Given the description of an element on the screen output the (x, y) to click on. 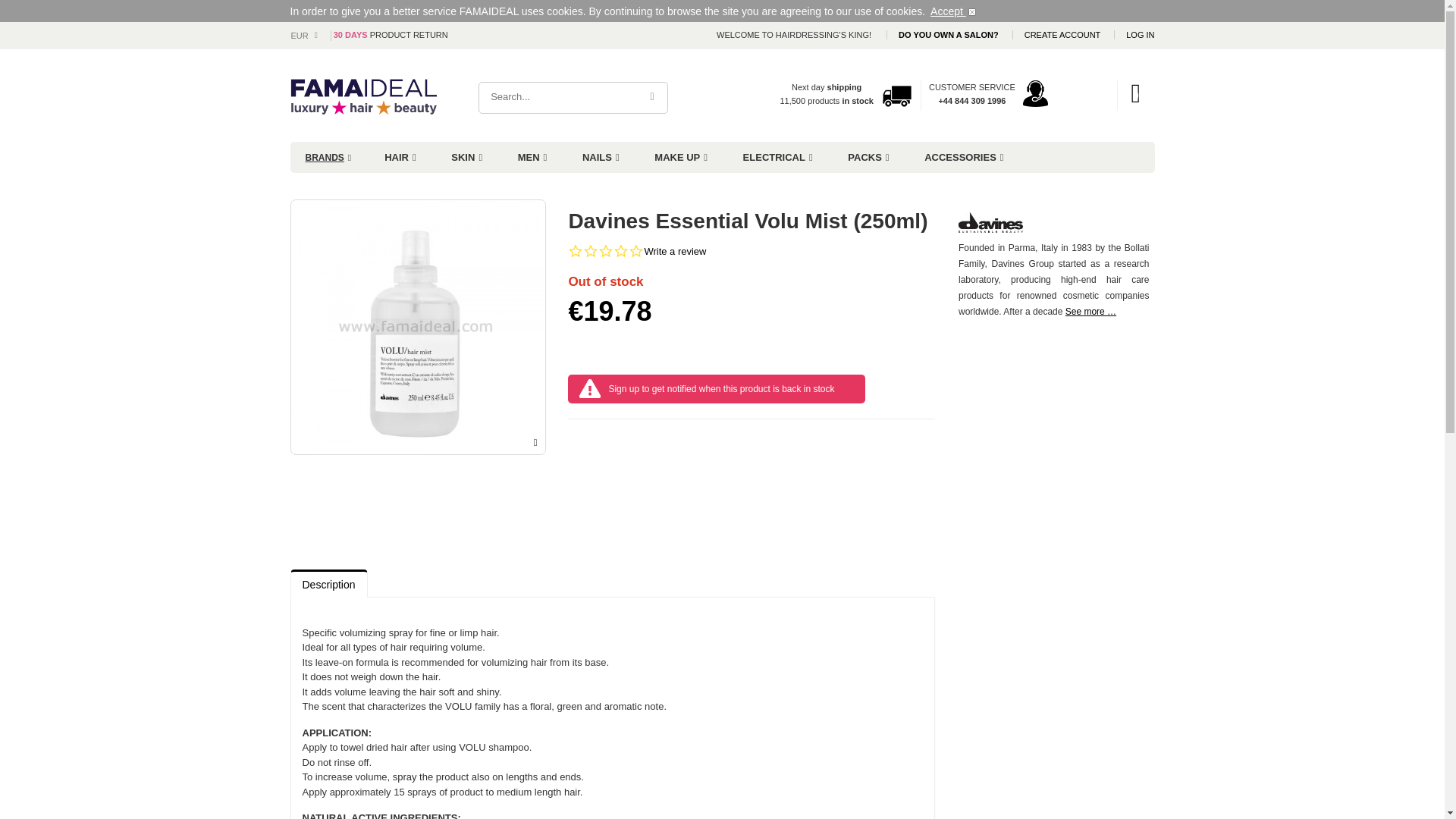
Sign up to get notified when this product is back in stock (721, 388)
FAMAIDEAL (343, 95)
Do you own a salon? (949, 34)
BRANDS (327, 157)
Search (651, 96)
Create Account (1064, 34)
CREATE ACCOUNT (1064, 34)
30 DAYS PRODUCT RETURN (390, 34)
LOG IN (1139, 34)
DO YOU OWN A SALON? (949, 34)
